Given the description of an element on the screen output the (x, y) to click on. 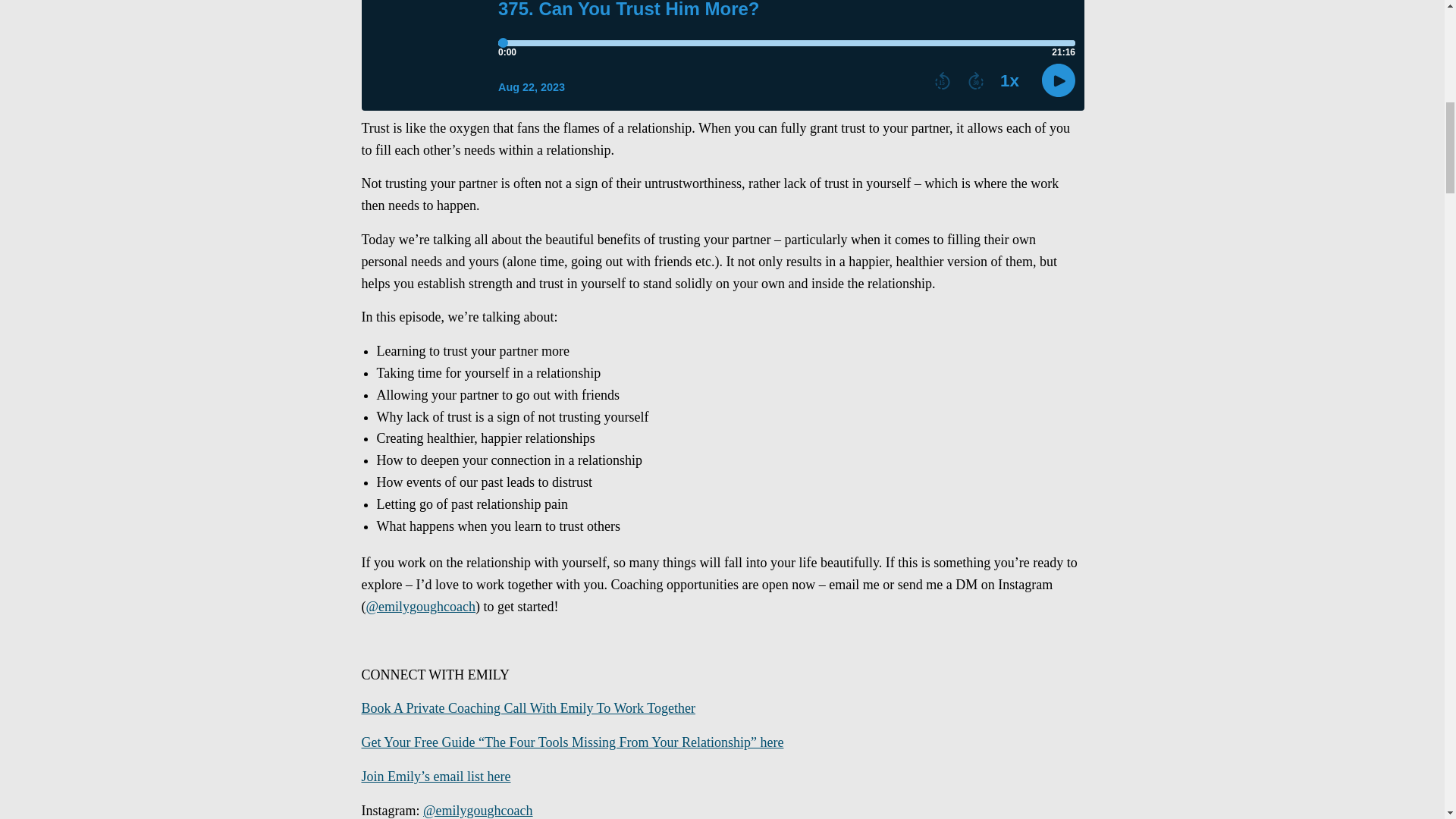
Book A Private Coaching Call With Emily To Work Together (527, 708)
Embed Player (722, 55)
